Given the description of an element on the screen output the (x, y) to click on. 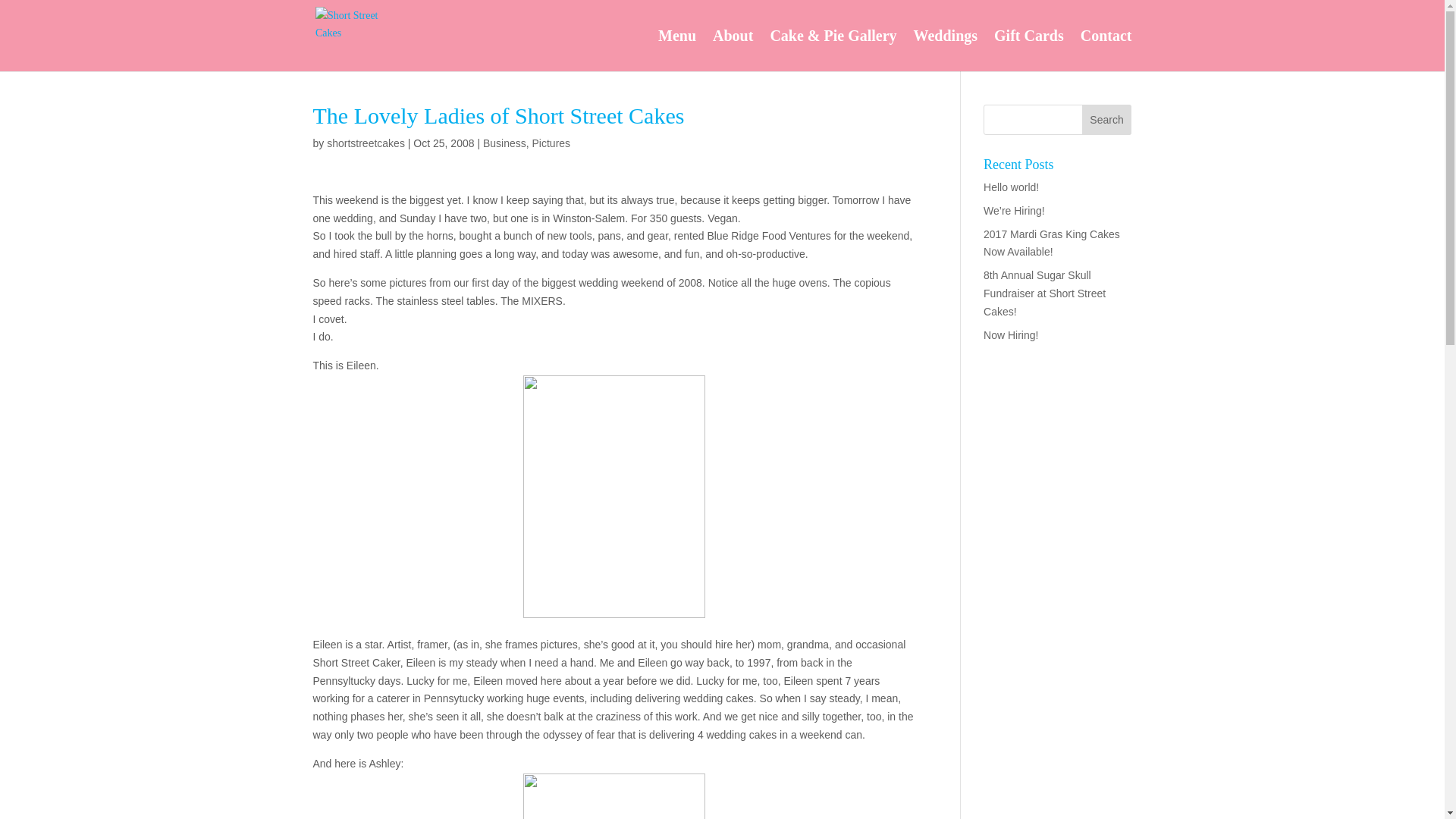
Contact (1106, 50)
Short Street Cakes Weddings! (945, 50)
shortstreetcakes (365, 143)
2017 Mardi Gras King Cakes Now Available! (1051, 243)
Posts by shortstreetcakes (365, 143)
Pictures (551, 143)
About (732, 50)
Search (1106, 119)
Search (1106, 119)
Gift Cards (1029, 50)
Business (504, 143)
Menu (676, 50)
Weddings (945, 50)
Now Hiring! (1011, 335)
8th Annual Sugar Skull Fundraiser at Short Street Cakes! (1044, 293)
